Given the description of an element on the screen output the (x, y) to click on. 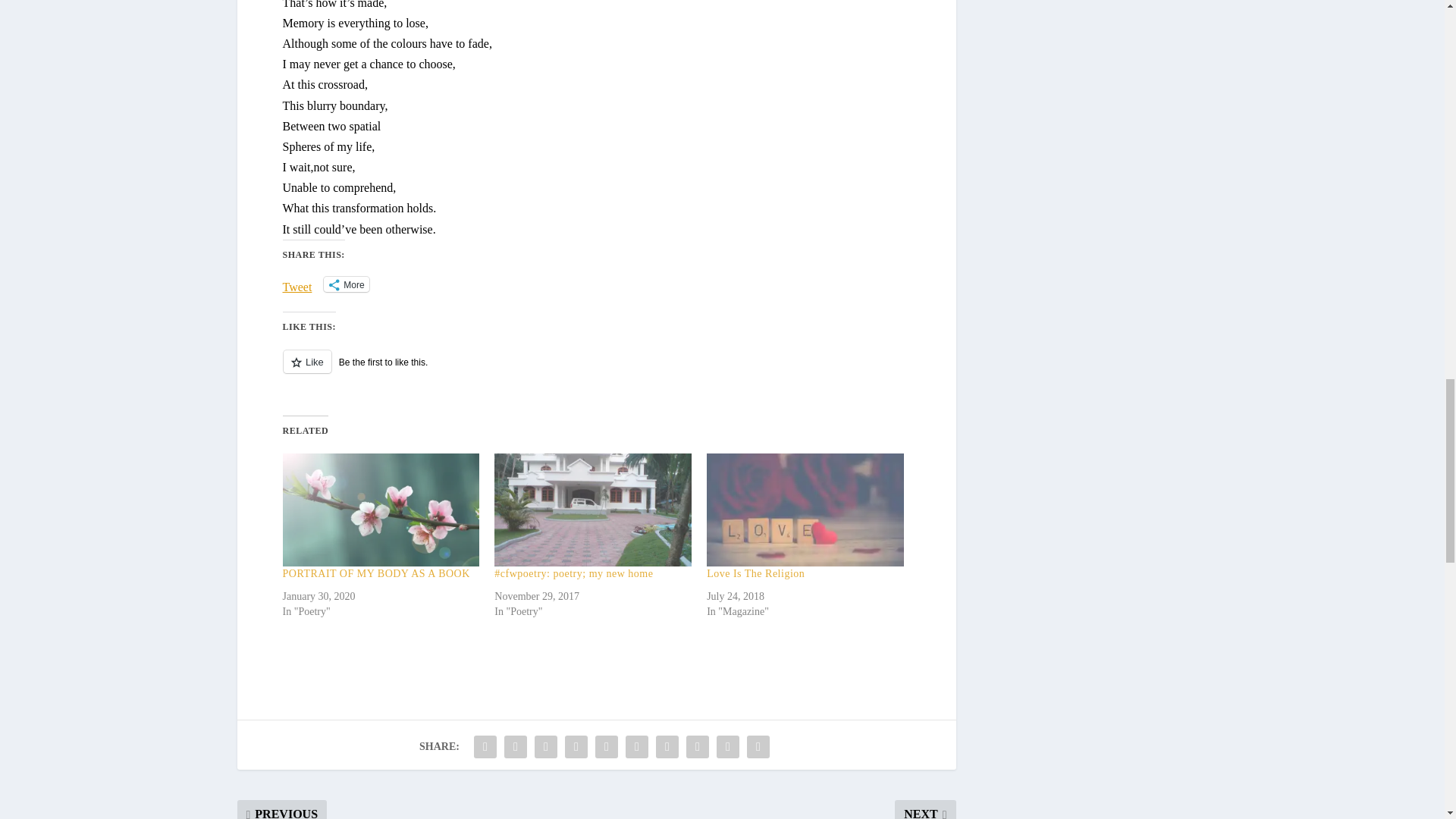
Share "OTHERWISE" via Twitter (515, 747)
Tweet (296, 283)
Share "OTHERWISE" via Facebook (485, 747)
Love Is The Religion (755, 573)
Share "OTHERWISE" via Tumblr (575, 747)
PORTRAIT OF MY BODY AS A BOOK (380, 509)
Share "OTHERWISE" via Pinterest (606, 747)
More (345, 283)
Love Is The Religion (805, 509)
PORTRAIT OF MY BODY AS A BOOK (375, 573)
Like or Reblog (596, 370)
PORTRAIT OF MY BODY AS A BOOK (375, 573)
